Given the description of an element on the screen output the (x, y) to click on. 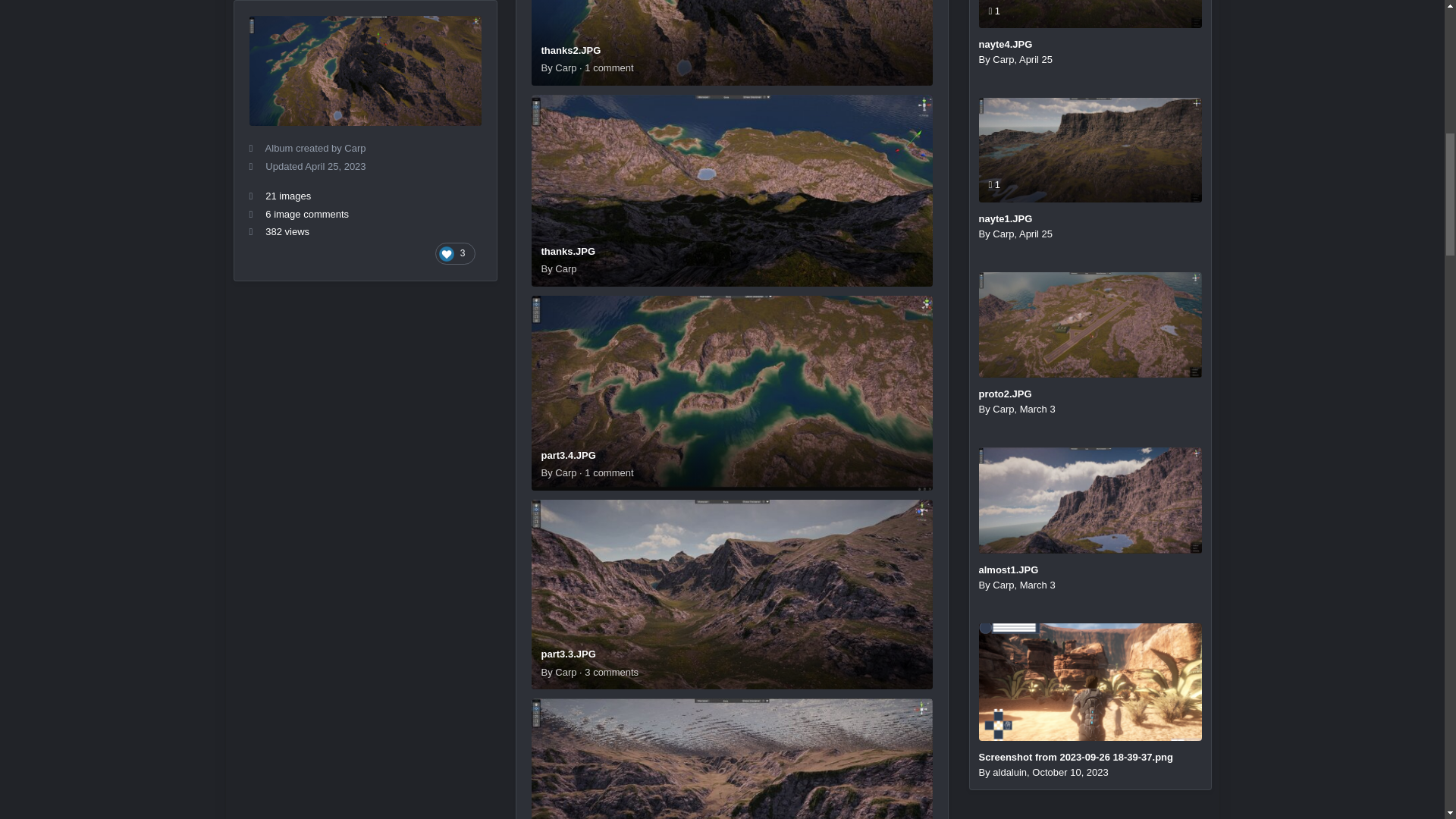
View the image nayte4.JPG (1089, 13)
View the image nayte1.JPG (1089, 149)
View the image nayte4.JPG (1005, 43)
Like (454, 94)
1 comment (1090, 11)
